Given the description of an element on the screen output the (x, y) to click on. 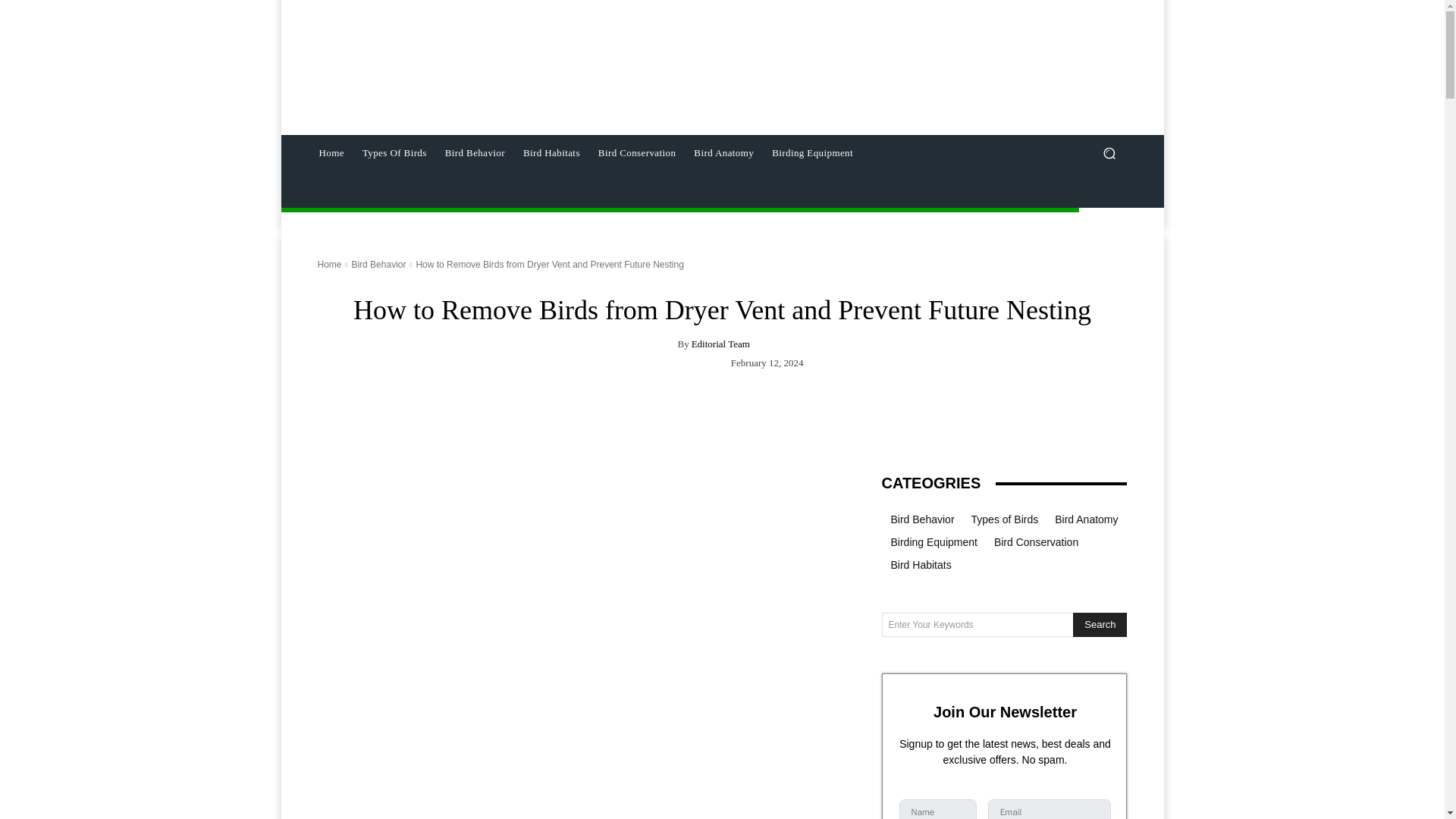
Bird Behavior (378, 264)
Bird Behavior (474, 153)
Home (328, 264)
Bird Habitats (551, 153)
View all posts in Bird Behavior (378, 264)
Bird Conservation (637, 153)
Home (330, 153)
Bird Anatomy (723, 153)
Editorial Team (720, 343)
Types Of Birds (394, 153)
